Given the description of an element on the screen output the (x, y) to click on. 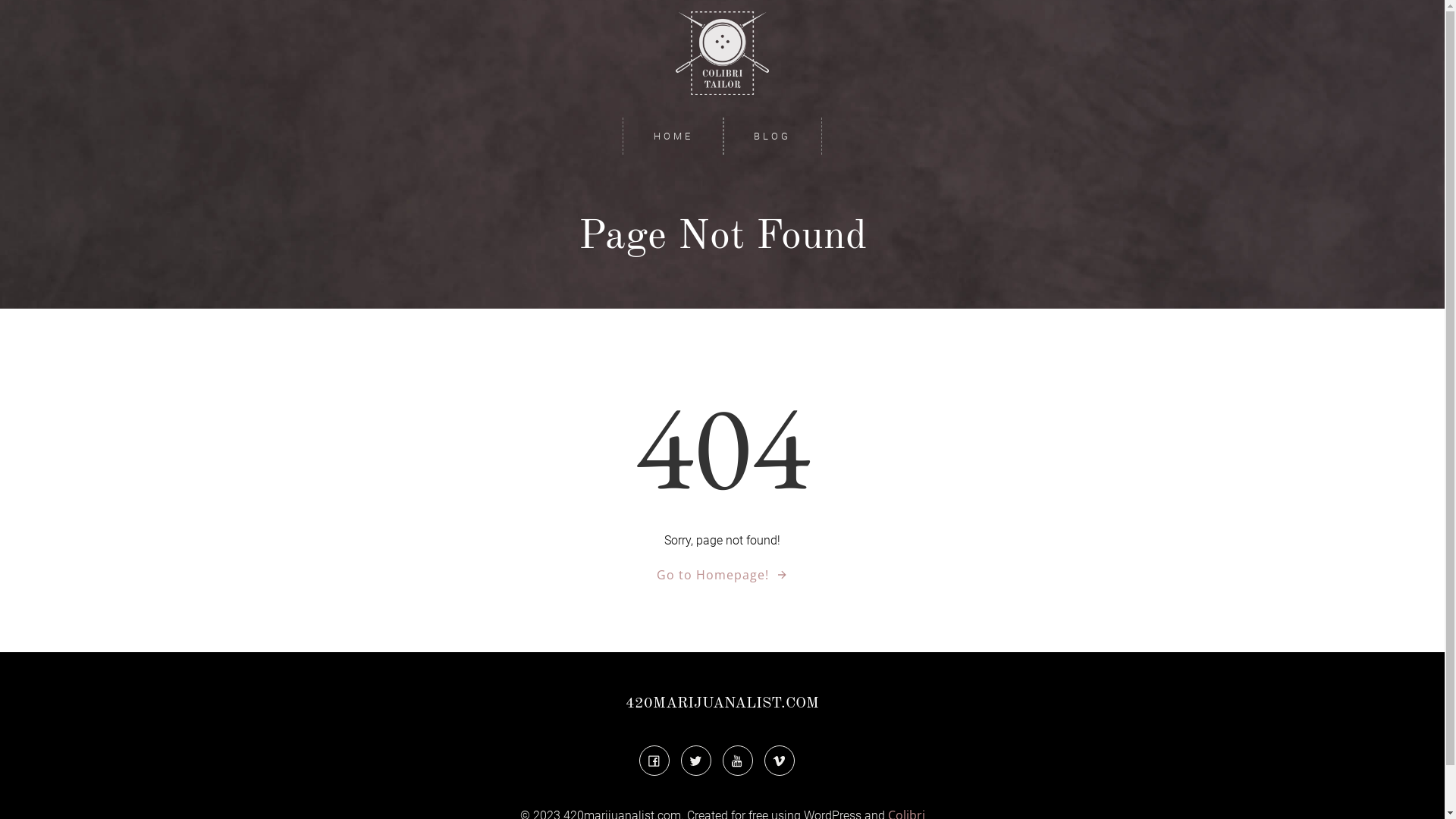
420MARIJUANALIST.COM Element type: text (722, 702)
Go to Homepage! Element type: text (722, 574)
HOME Element type: text (673, 136)
BLOG Element type: text (771, 136)
